Given the description of an element on the screen output the (x, y) to click on. 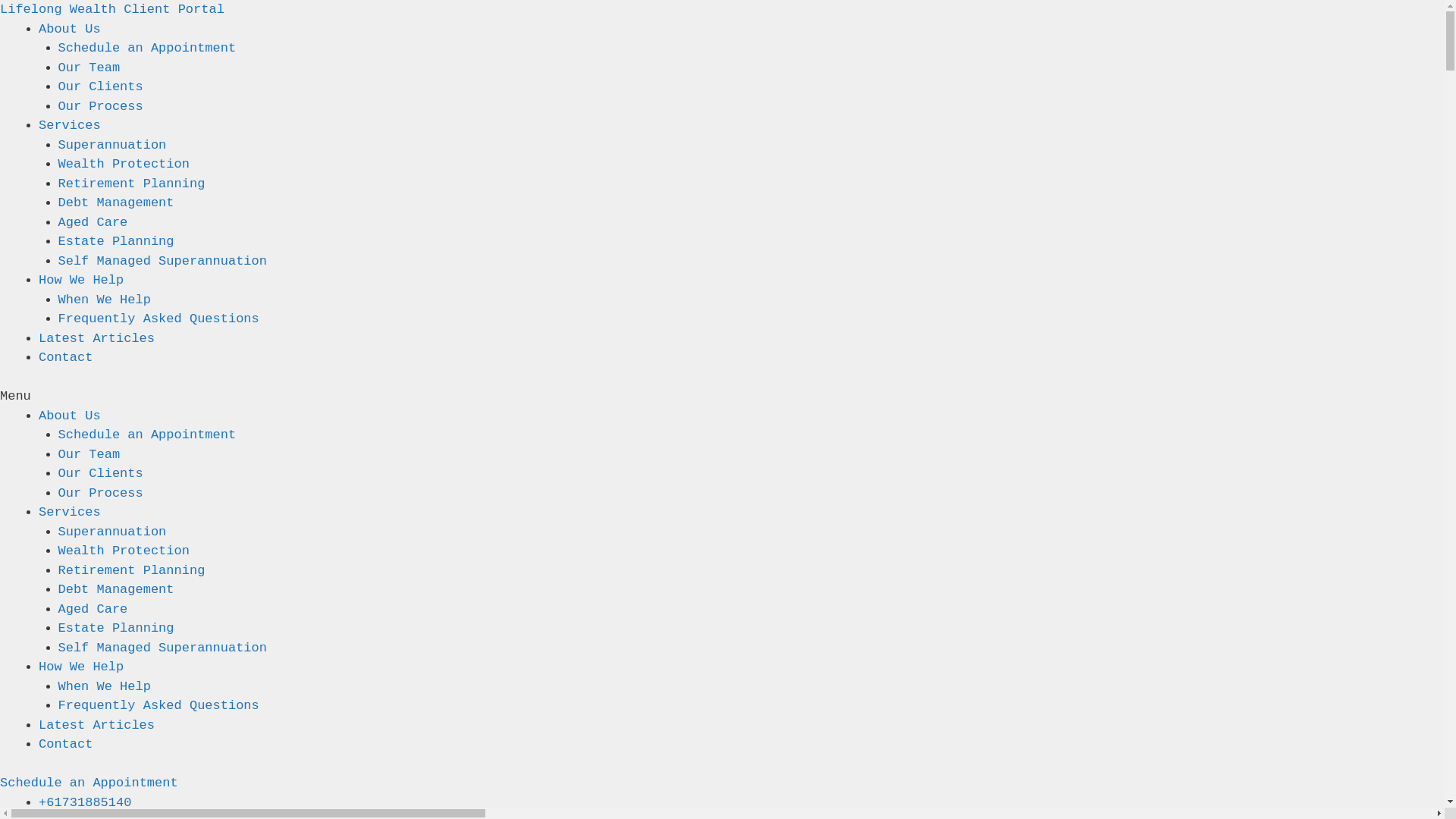
Our Process Element type: text (99, 492)
Superannuation Element type: text (111, 145)
Superannuation Element type: text (111, 531)
Self Managed Superannuation Element type: text (161, 647)
Aged Care Element type: text (92, 222)
Self Managed Superannuation Element type: text (161, 260)
Frequently Asked Questions Element type: text (157, 705)
How We Help Element type: text (80, 280)
Estate Planning Element type: text (115, 241)
Our Clients Element type: text (99, 86)
Our Team Element type: text (88, 454)
Schedule an Appointment Element type: text (89, 782)
Debt Management Element type: text (115, 202)
+61731885140 Element type: text (84, 801)
How We Help Element type: text (80, 666)
Latest Articles Element type: text (96, 337)
Wealth Protection Element type: text (122, 550)
Schedule an Appointment Element type: text (146, 47)
Estate Planning Element type: text (115, 628)
When We Help Element type: text (103, 299)
Aged Care Element type: text (92, 609)
Our Process Element type: text (99, 105)
Contact Element type: text (65, 357)
Services Element type: text (69, 512)
Schedule an Appointment Element type: text (146, 434)
Frequently Asked Questions Element type: text (157, 318)
Services Element type: text (69, 125)
Retirement Planning Element type: text (130, 569)
Lifelong Wealth Client Portal Element type: text (112, 9)
Our Clients Element type: text (99, 473)
Our Team Element type: text (88, 67)
About Us Element type: text (69, 28)
Wealth Protection Element type: text (122, 163)
When We Help Element type: text (103, 686)
Retirement Planning Element type: text (130, 182)
About Us Element type: text (69, 414)
Contact Element type: text (65, 744)
Debt Management Element type: text (115, 589)
Latest Articles Element type: text (96, 724)
